Given the description of an element on the screen output the (x, y) to click on. 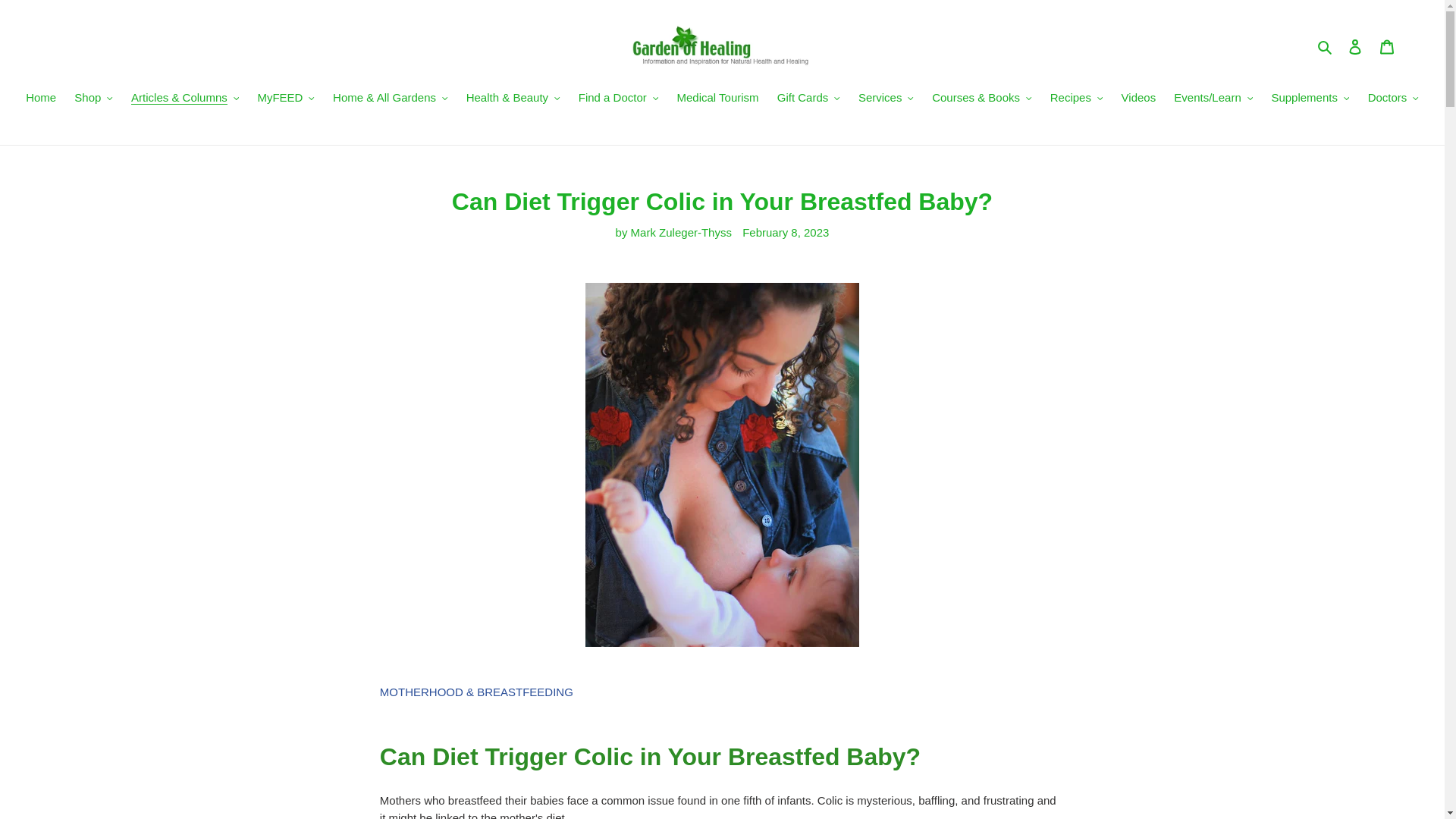
Search (1326, 46)
Log in (1355, 46)
Cart (1387, 46)
